Given the description of an element on the screen output the (x, y) to click on. 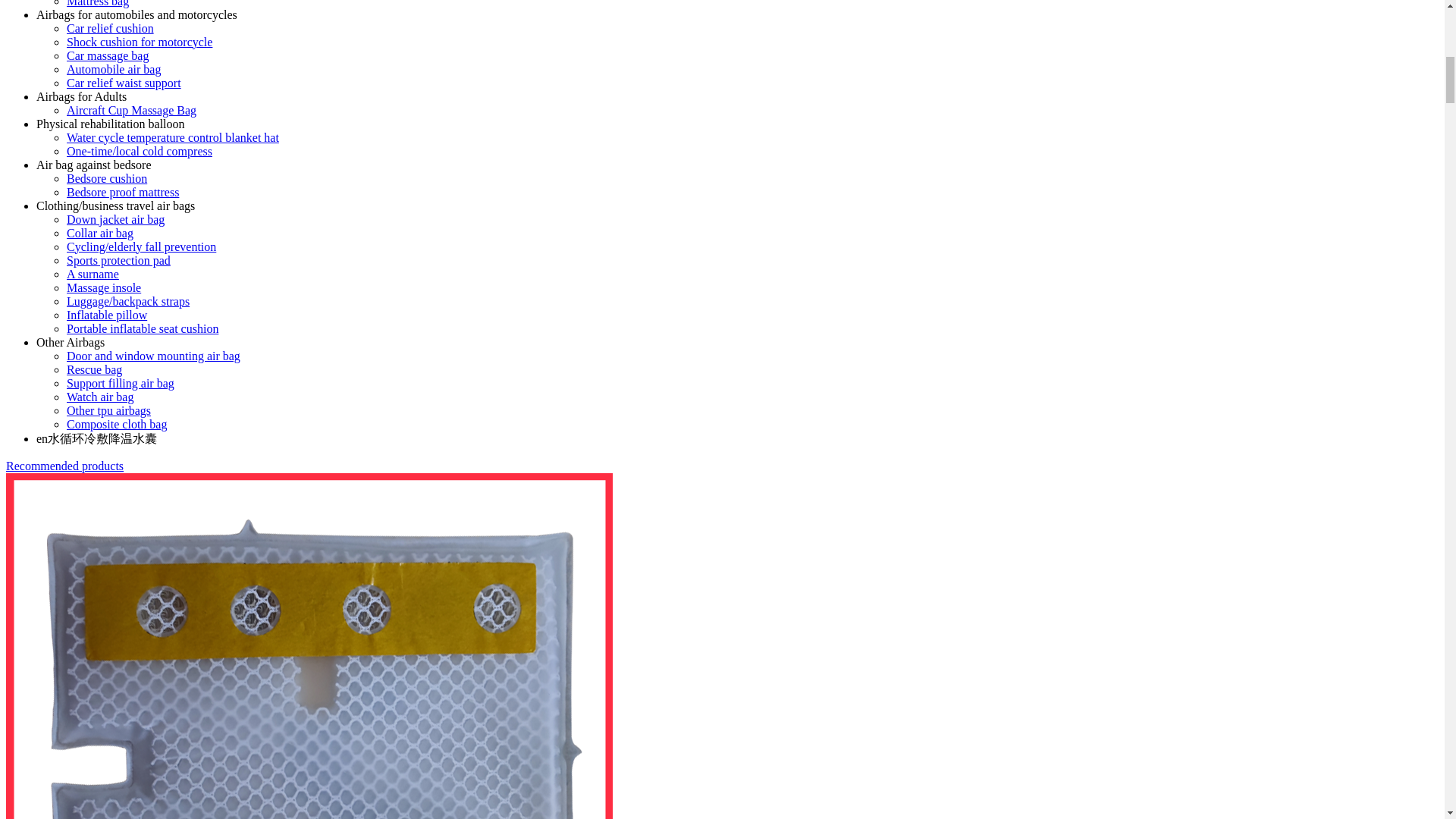
Mattress bag (97, 3)
